Given the description of an element on the screen output the (x, y) to click on. 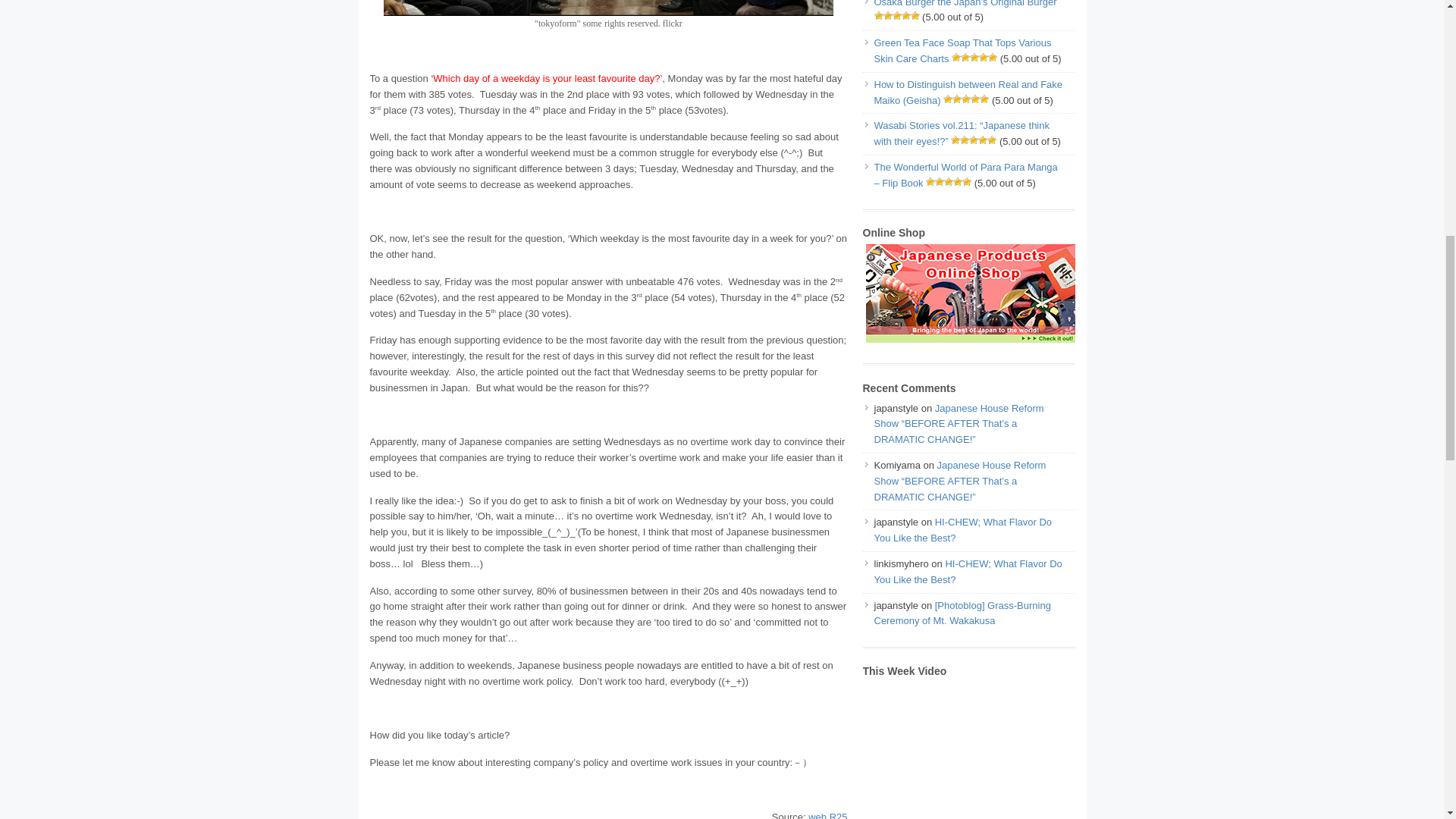
HI-CHEW; What Flavor Do You Like the Best? (967, 571)
web R25 (827, 815)
Green Tea Face Soap That Tops Various Skin Care Charts (962, 50)
HI-CHEW; What Flavor Do You Like the Best? (962, 529)
Japanese businessmen (608, 7)
